Given the description of an element on the screen output the (x, y) to click on. 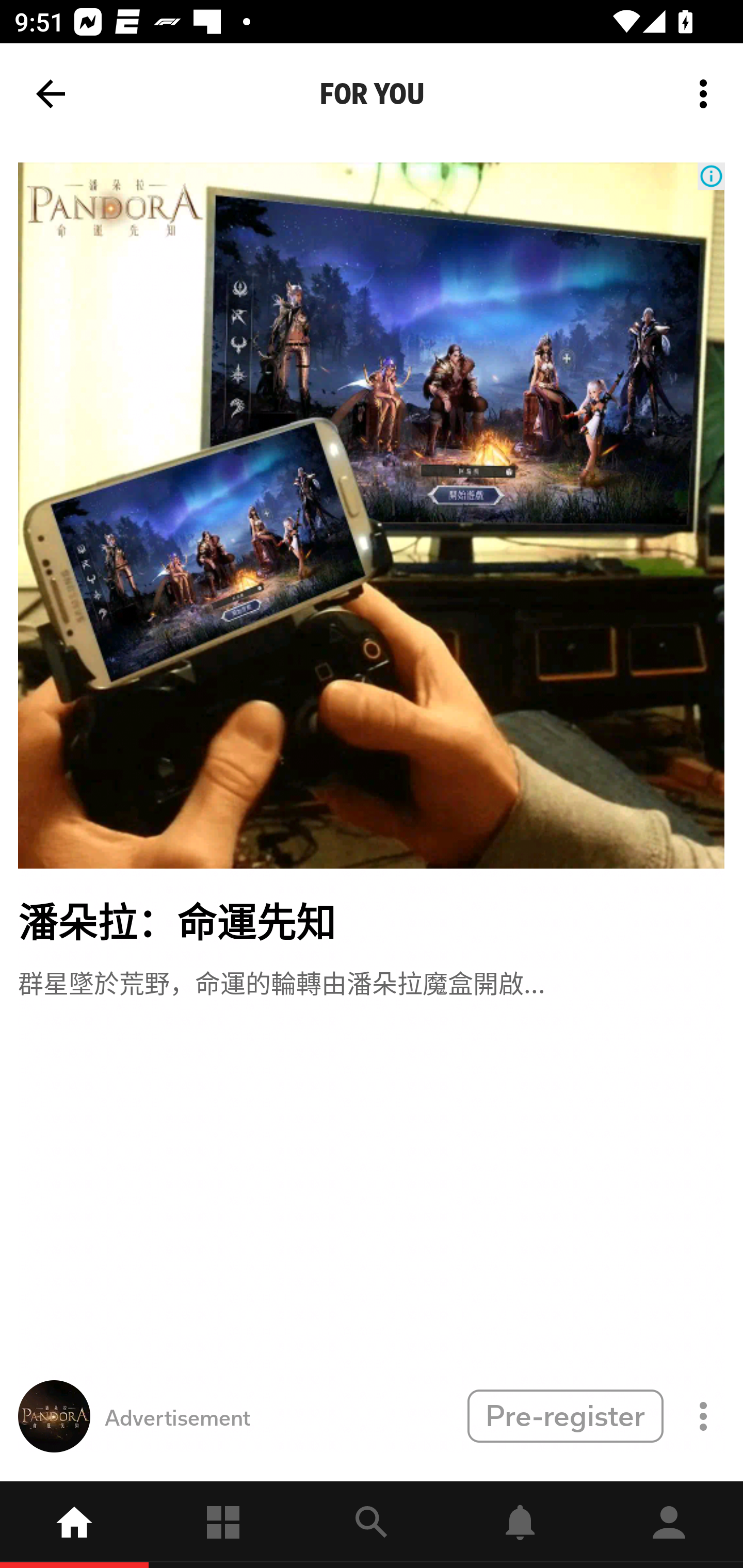
Back (50, 93)
FOR YOU (371, 93)
More options (706, 93)
Ad Choices Icon (711, 176)
群星墜於荒野，命運的輪轉由潘朵拉魔盒開啟... (281, 981)
Pre-register (565, 1415)
home (74, 1524)
Following (222, 1524)
explore (371, 1524)
Notifications (519, 1524)
Profile (668, 1524)
